Given the description of an element on the screen output the (x, y) to click on. 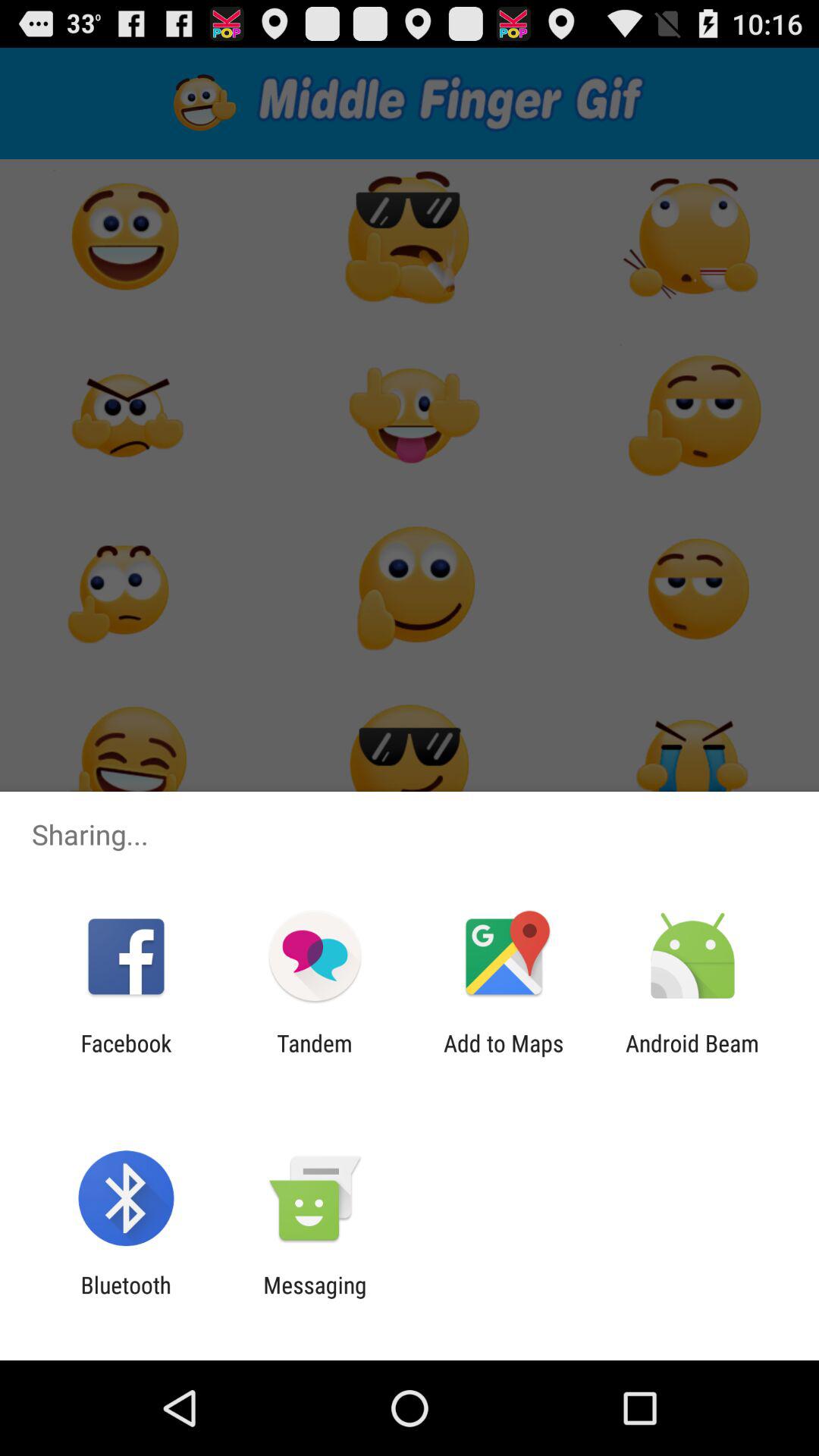
turn on the app to the left of the tandem app (125, 1056)
